Given the description of an element on the screen output the (x, y) to click on. 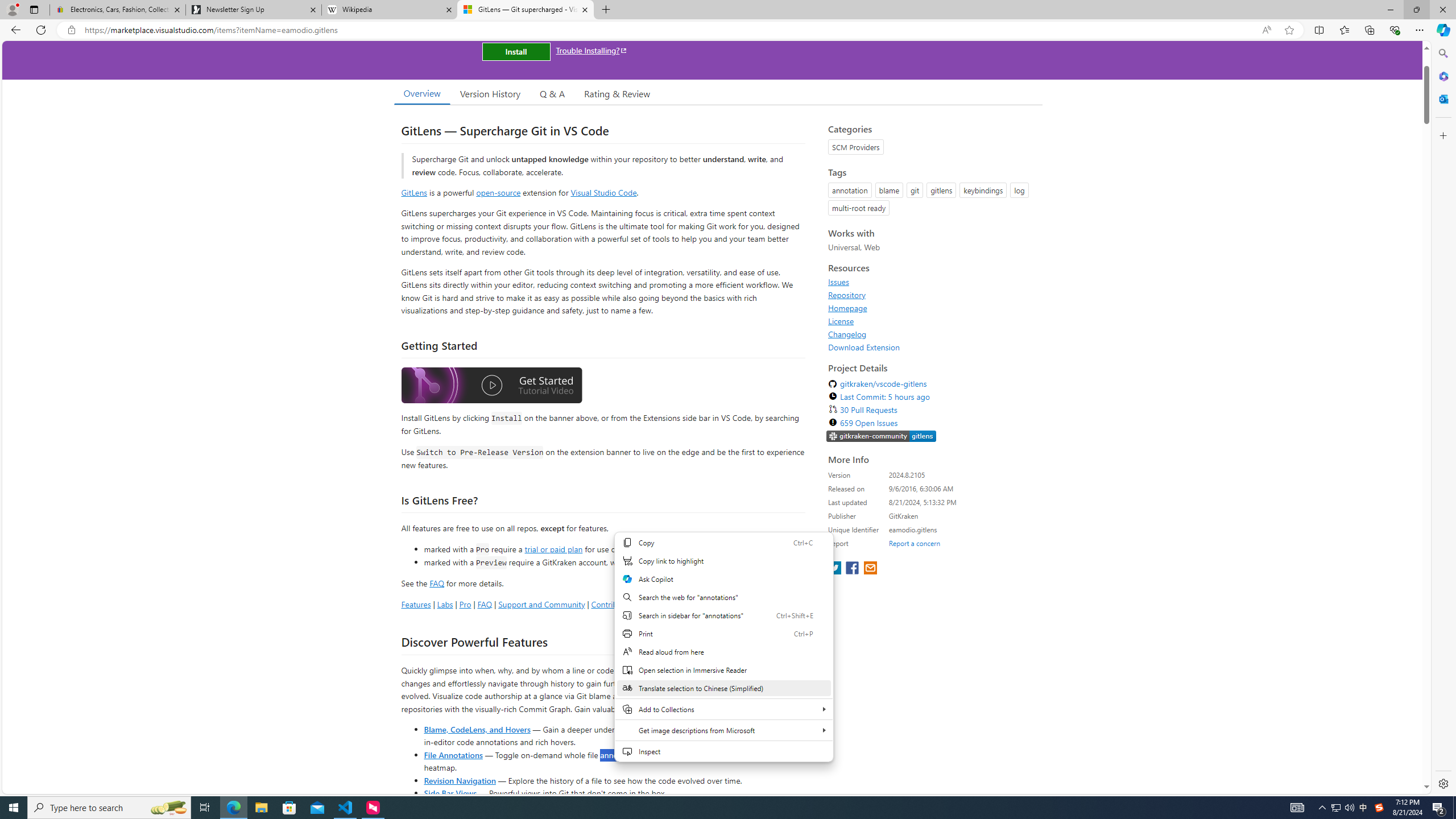
View site information (70, 29)
Customize (1442, 135)
Microsoft 365 (1442, 76)
Close (1442, 9)
Wikipedia (390, 9)
Copy link to highlight (723, 561)
trial or paid plan (553, 548)
Collections (1369, 29)
Print (723, 633)
Split screen (1318, 29)
Side Bar Views (449, 792)
